Given the description of an element on the screen output the (x, y) to click on. 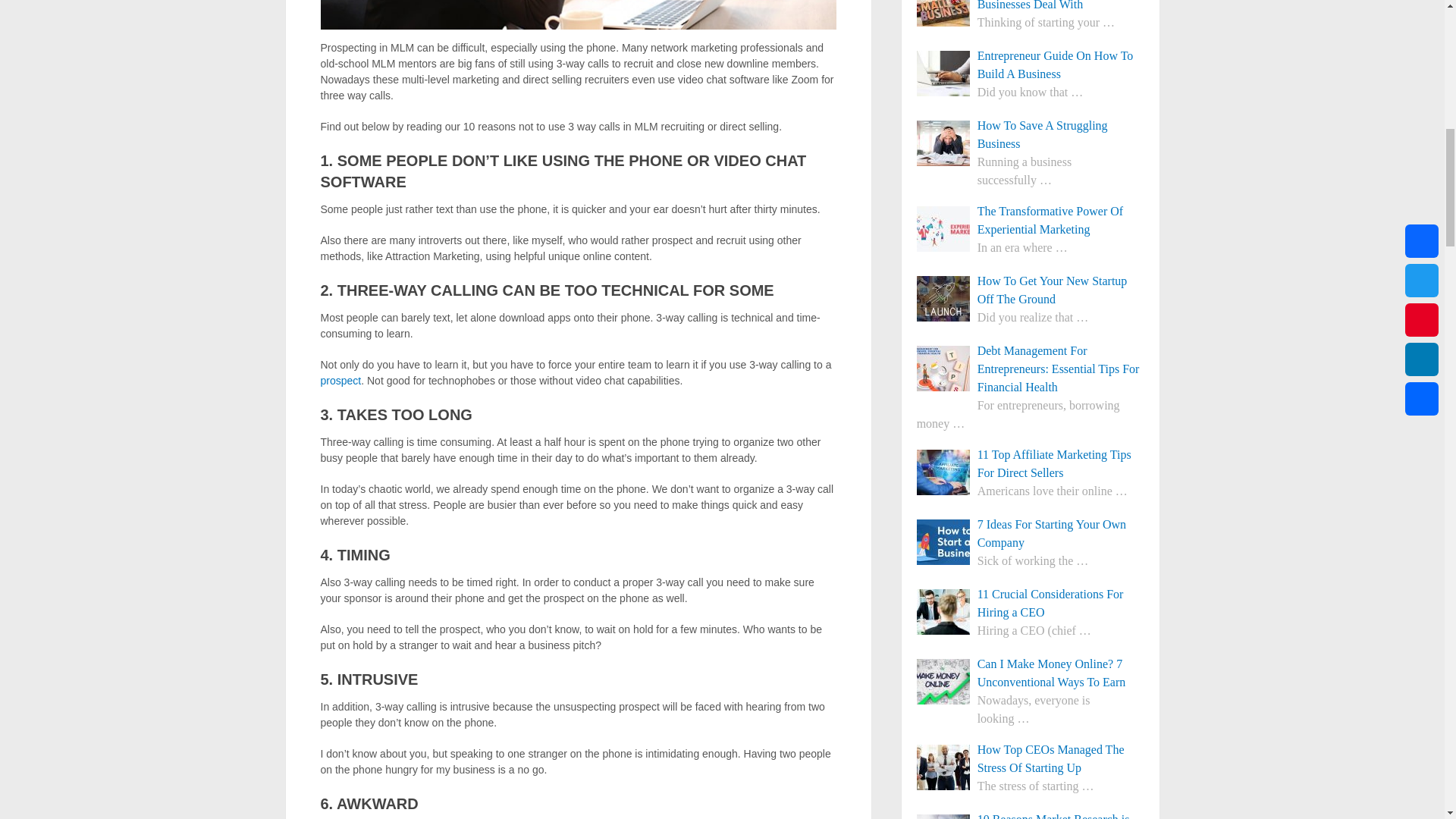
reasons not to use 3 way calls in mlm recruiting (577, 14)
prospect (340, 380)
5 Pain Points Most Small Businesses Deal With (1030, 6)
Entrepreneur Guide On How To Build A Business (1030, 64)
